Given the description of an element on the screen output the (x, y) to click on. 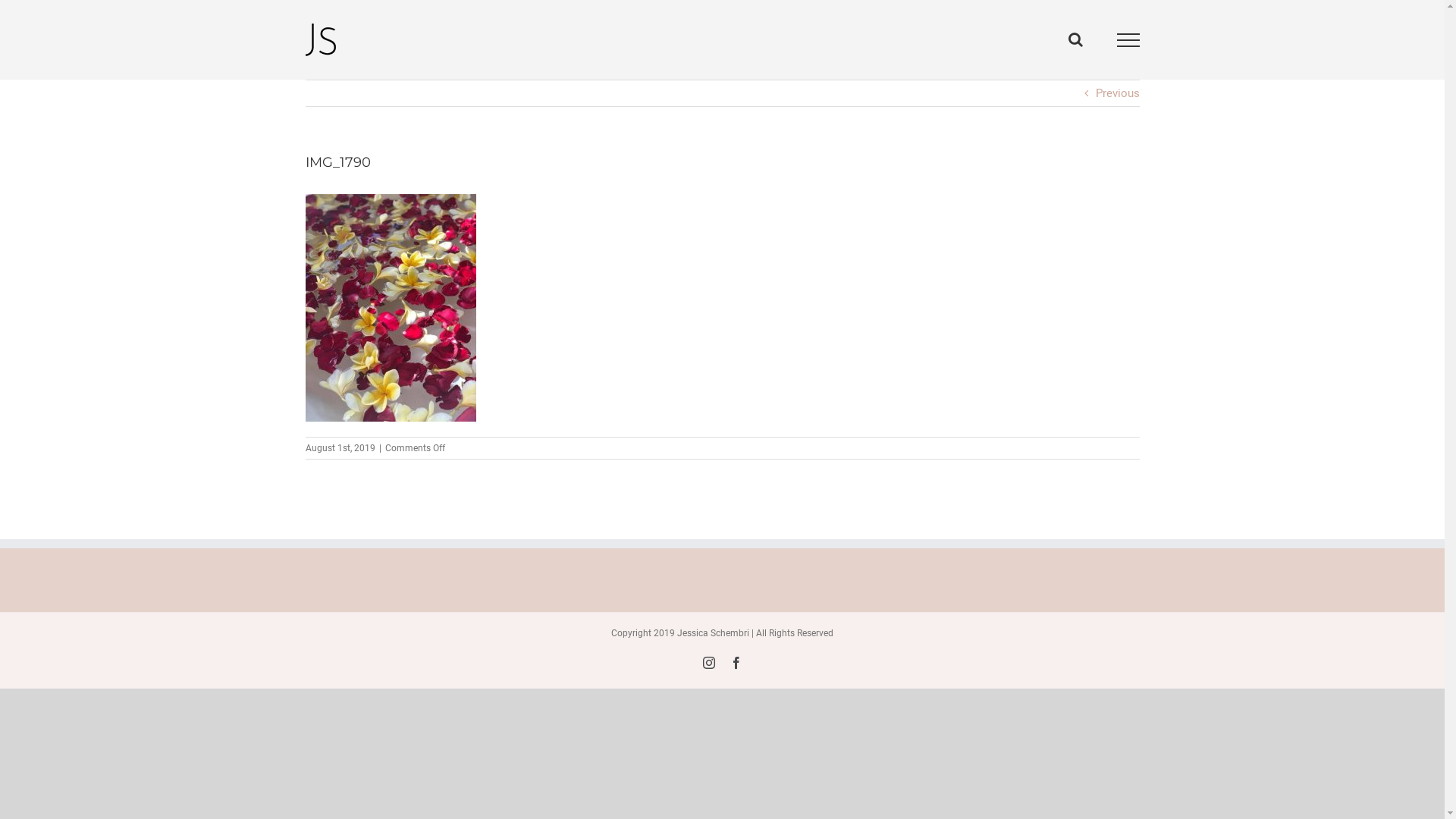
Facebook Element type: text (735, 662)
Instagram Element type: text (708, 662)
Previous Element type: text (1117, 93)
